Given the description of an element on the screen output the (x, y) to click on. 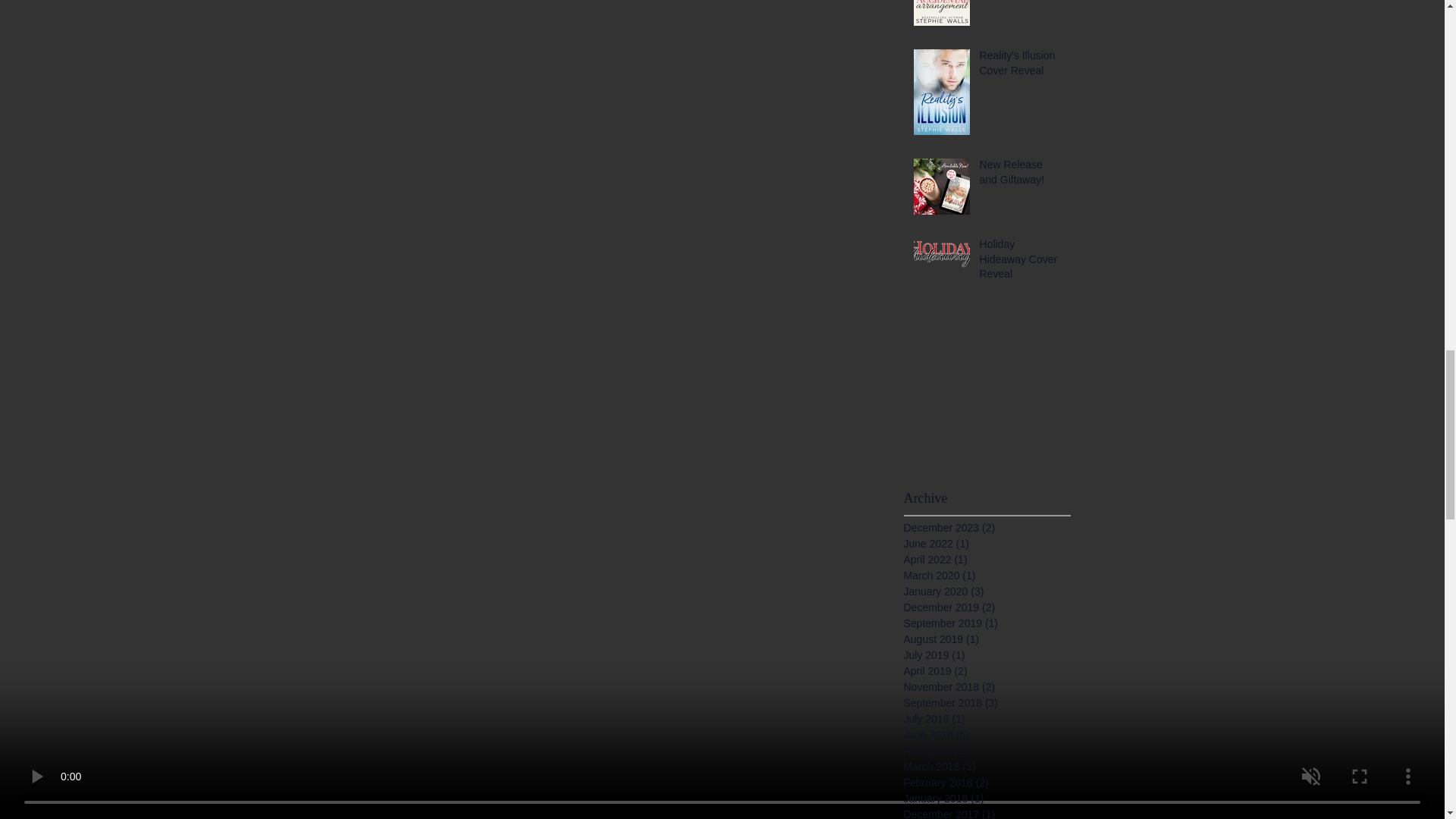
New Release and Giftaway! (1020, 175)
Reality's Illusion Cover Reveal (1020, 66)
Holiday Hideaway Cover Reveal (1020, 262)
